Given the description of an element on the screen output the (x, y) to click on. 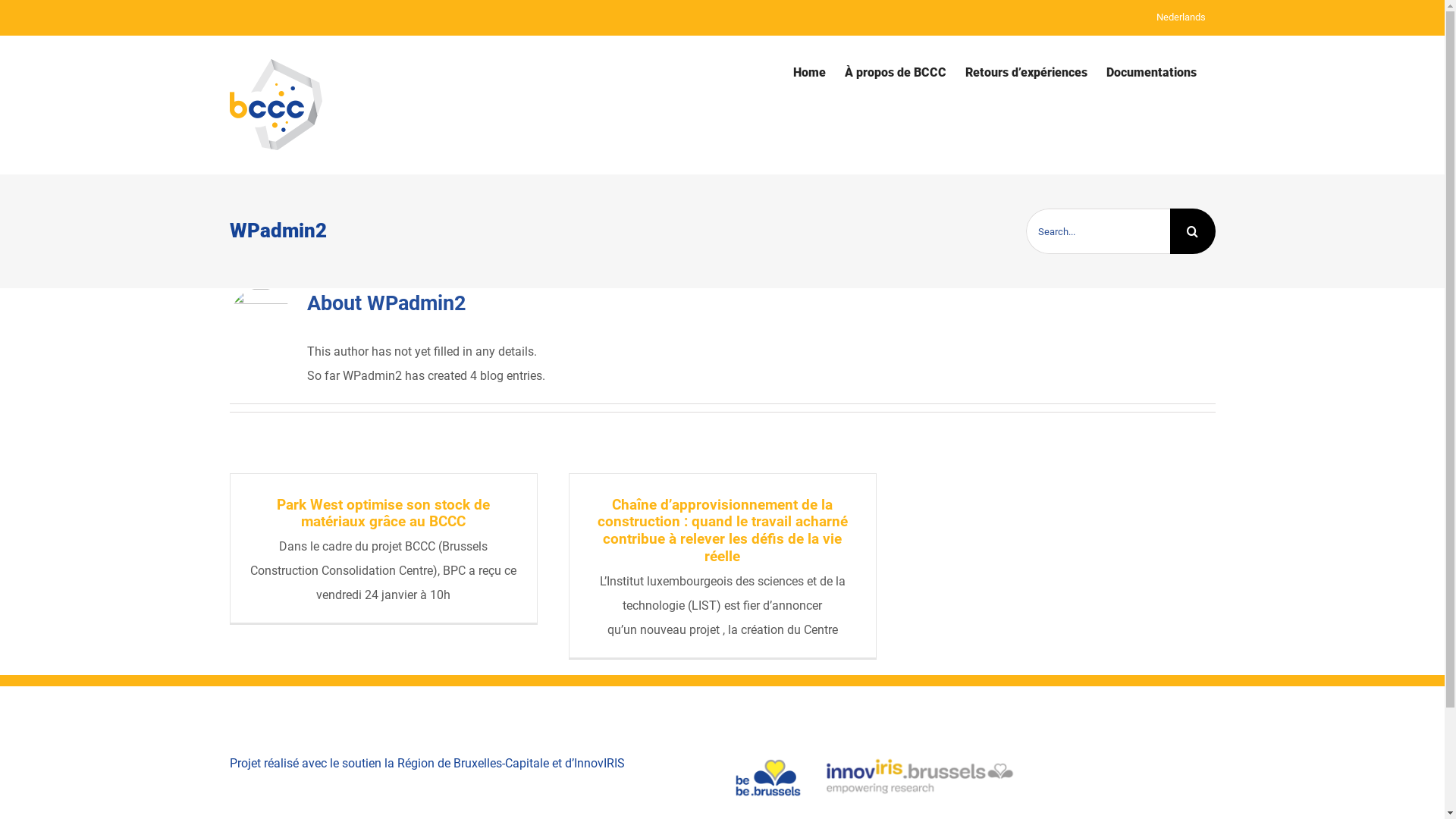
Documentations Element type: text (1150, 72)
Nederlands Element type: text (1180, 17)
Home Element type: text (809, 72)
